Given the description of an element on the screen output the (x, y) to click on. 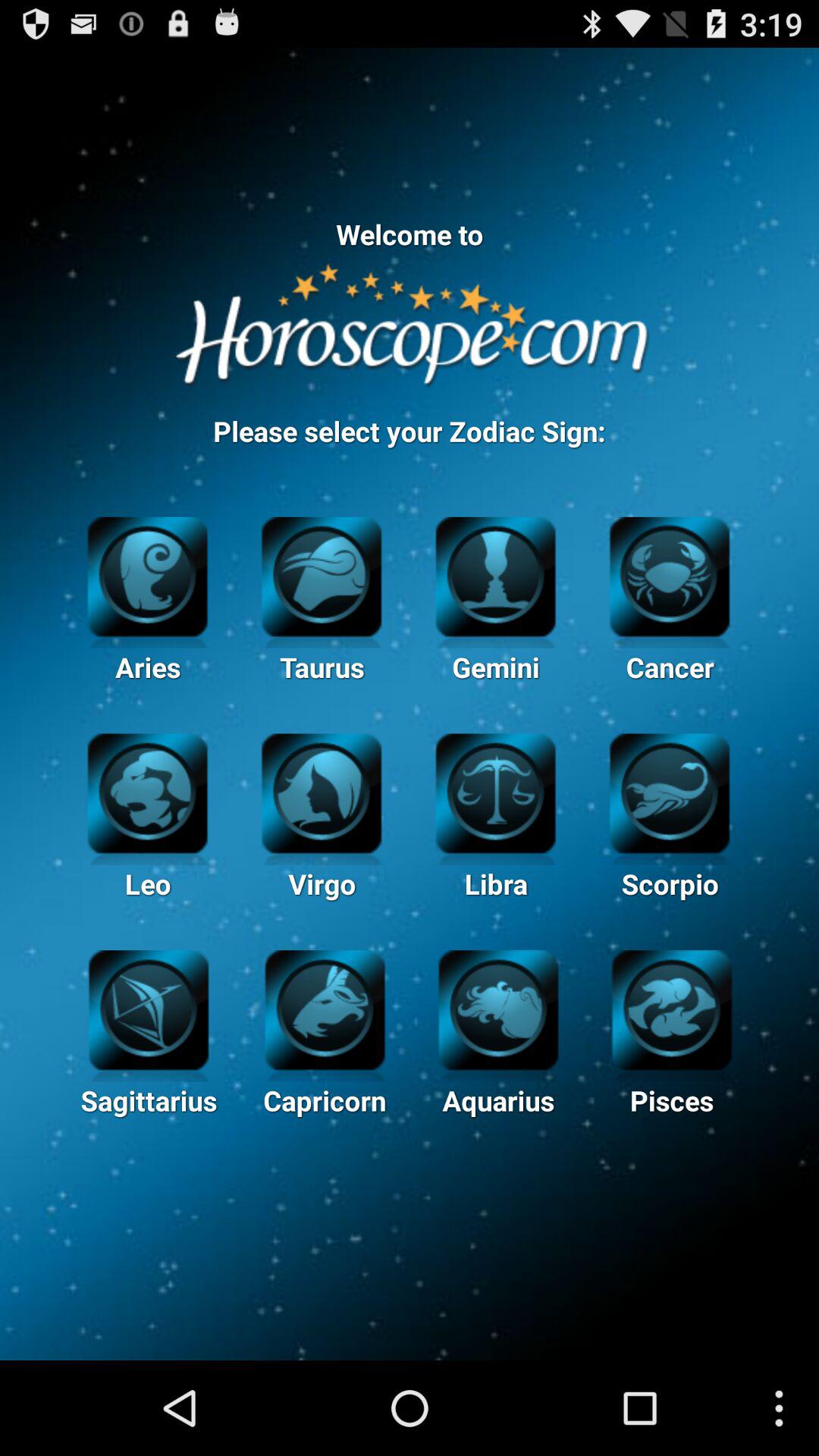
gemini (495, 574)
